Given the description of an element on the screen output the (x, y) to click on. 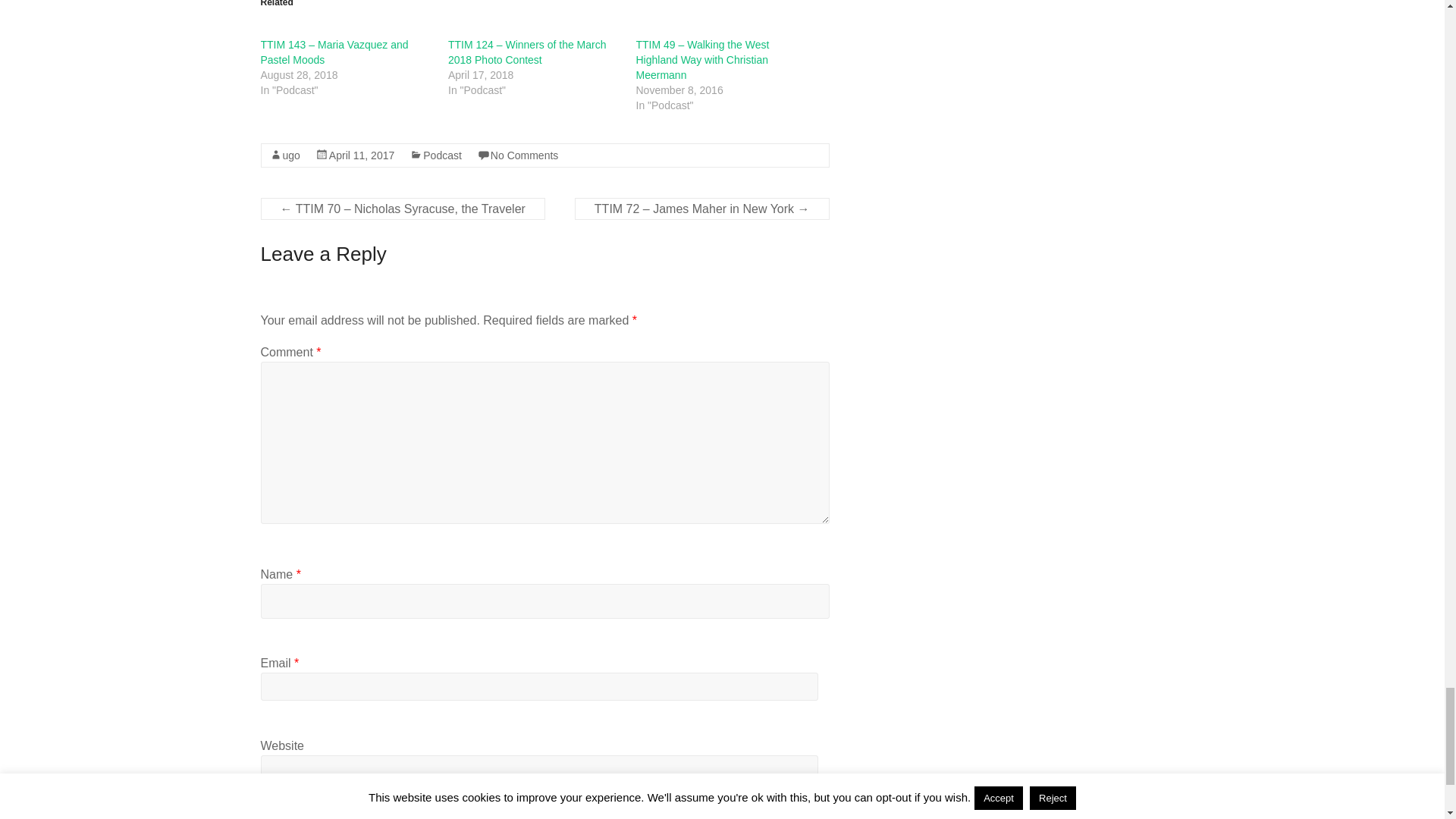
No Comments (523, 155)
ugo (290, 155)
Podcast (442, 155)
April 11, 2017 (361, 155)
